Given the description of an element on the screen output the (x, y) to click on. 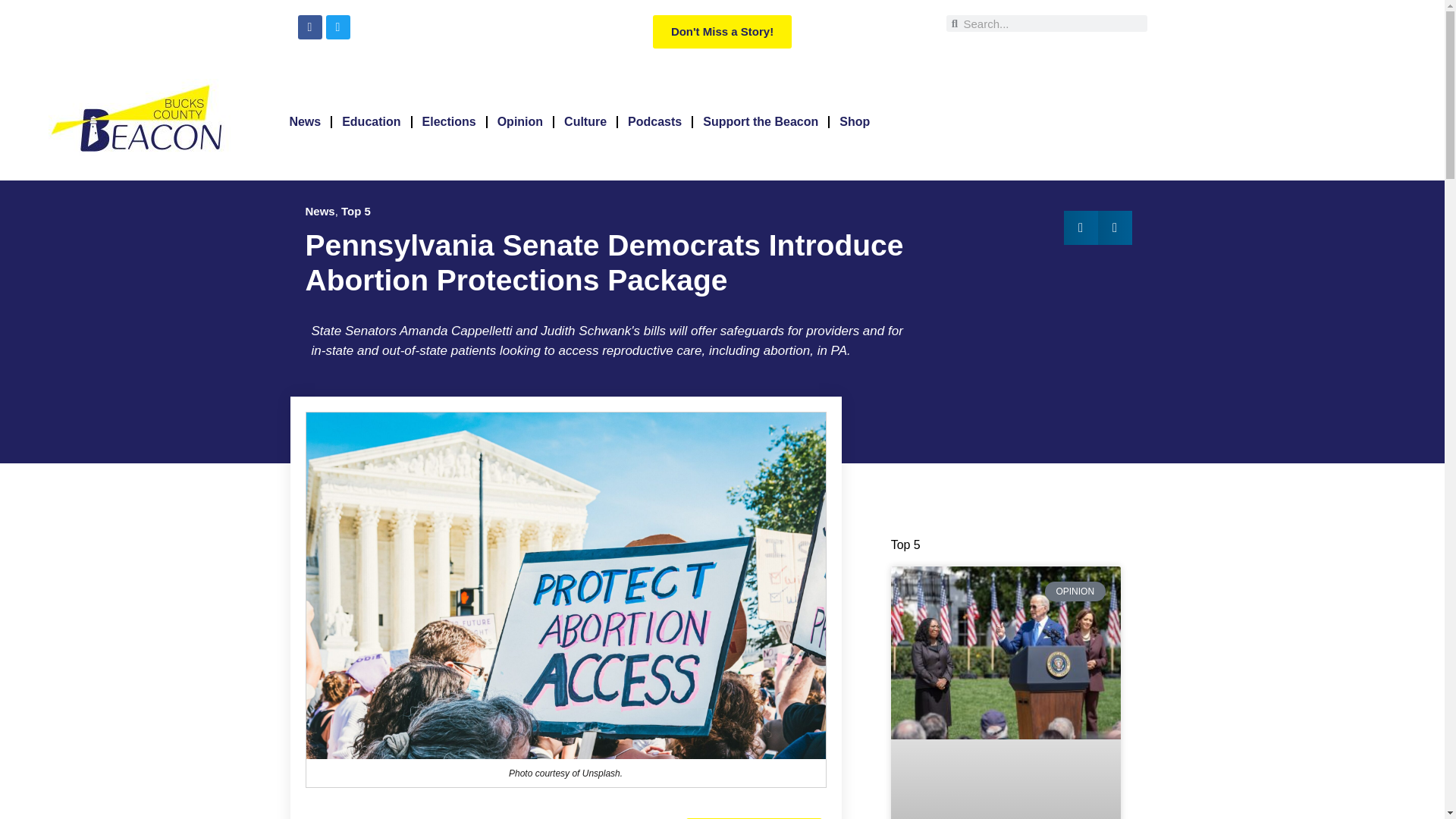
News (304, 121)
Shop (854, 121)
Opinion (520, 121)
Don't Miss a Story! (722, 31)
Support the Beacon (760, 121)
Podcasts (654, 121)
Top 5 (355, 210)
News (319, 210)
Culture (584, 121)
Education (370, 121)
Elections (449, 121)
